Given the description of an element on the screen output the (x, y) to click on. 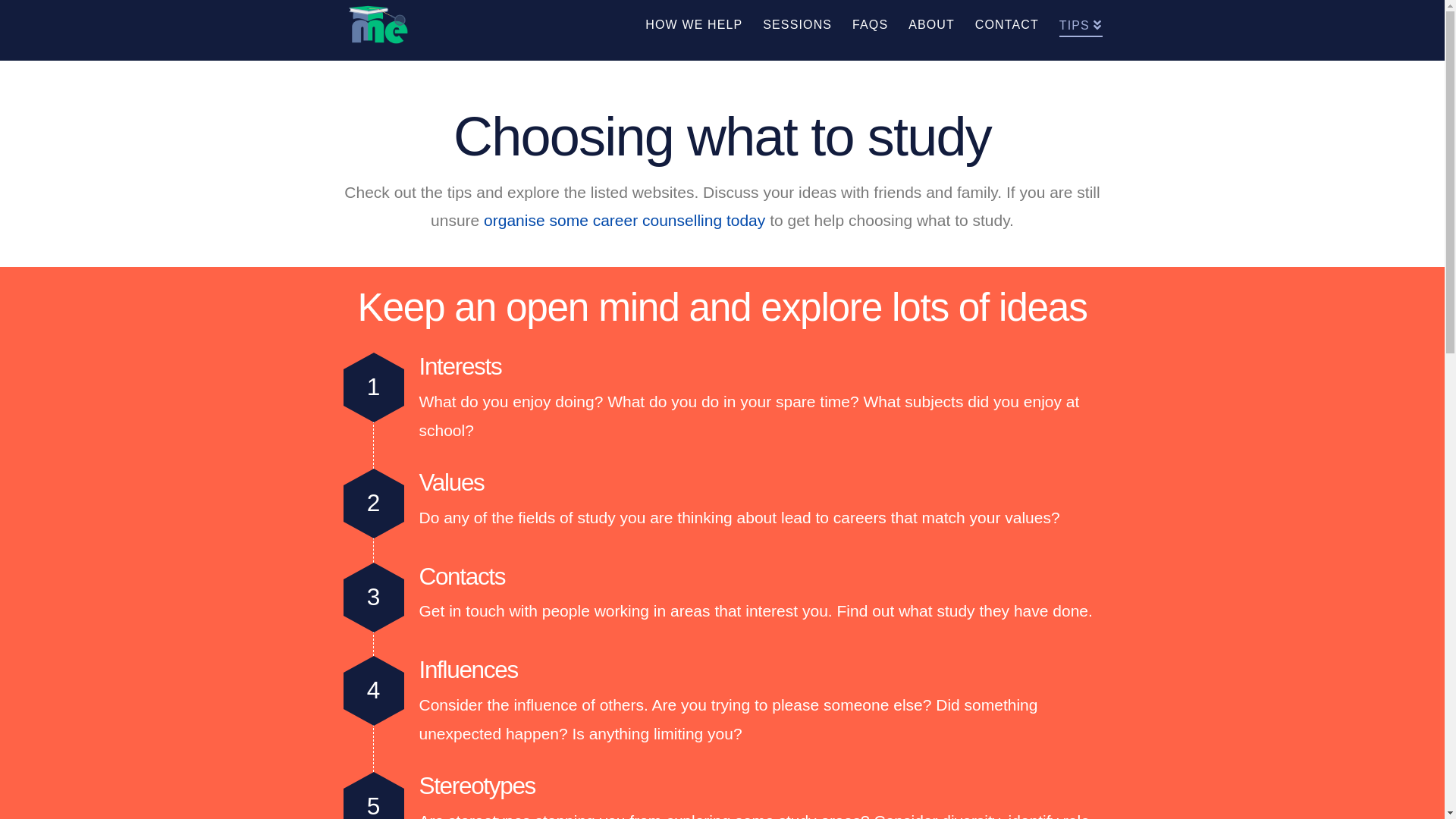
ABOUT Element type: text (930, 30)
CONTACT Element type: text (1006, 30)
HOW WE HELP Element type: text (693, 30)
FAQS Element type: text (869, 30)
TIPS Element type: text (1074, 30)
organise some career counselling today Element type: text (624, 220)
SESSIONS Element type: text (796, 30)
